Given the description of an element on the screen output the (x, y) to click on. 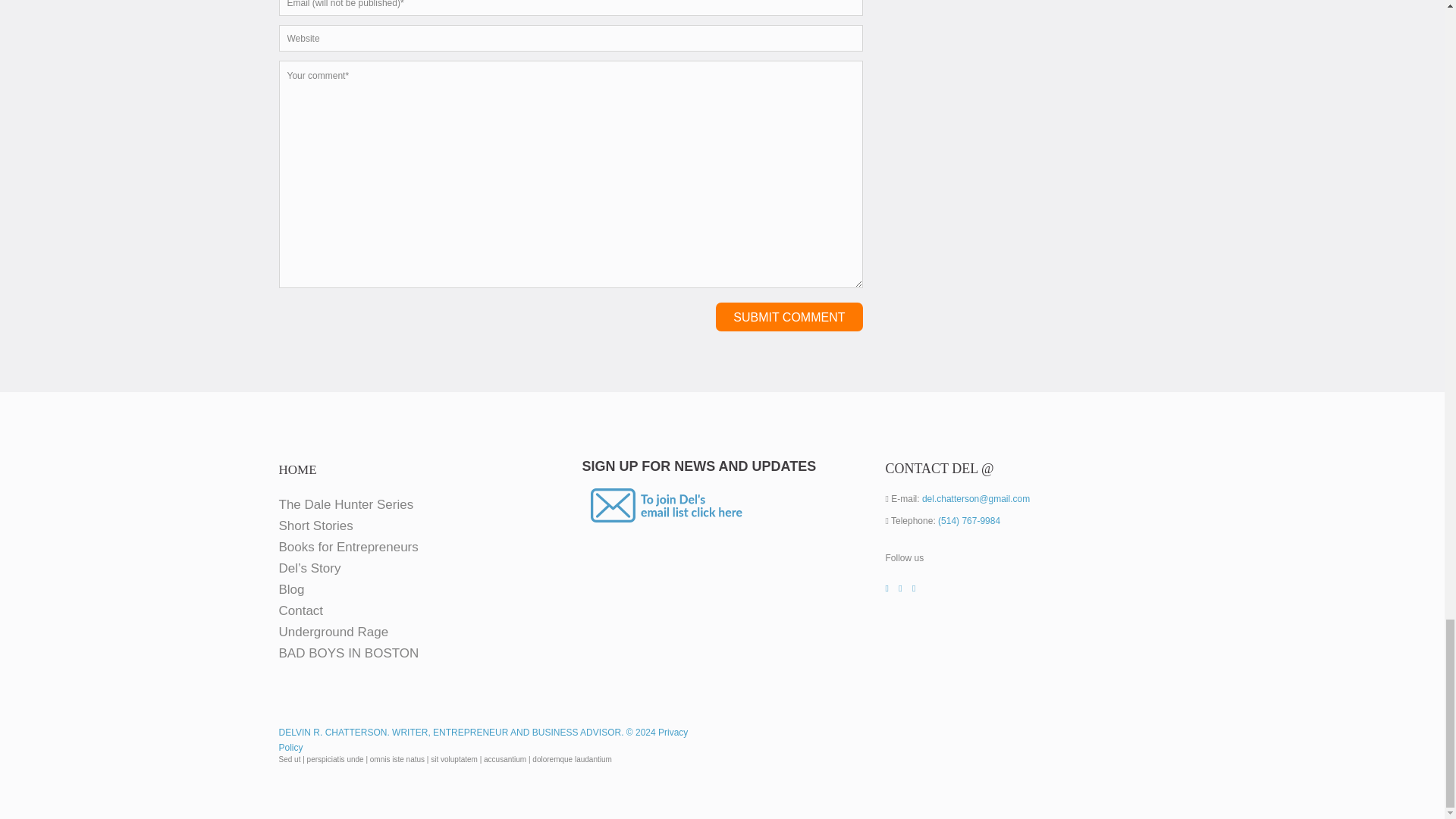
Submit Comment (788, 316)
Website (571, 38)
Submit Comment (788, 316)
